Given the description of an element on the screen output the (x, y) to click on. 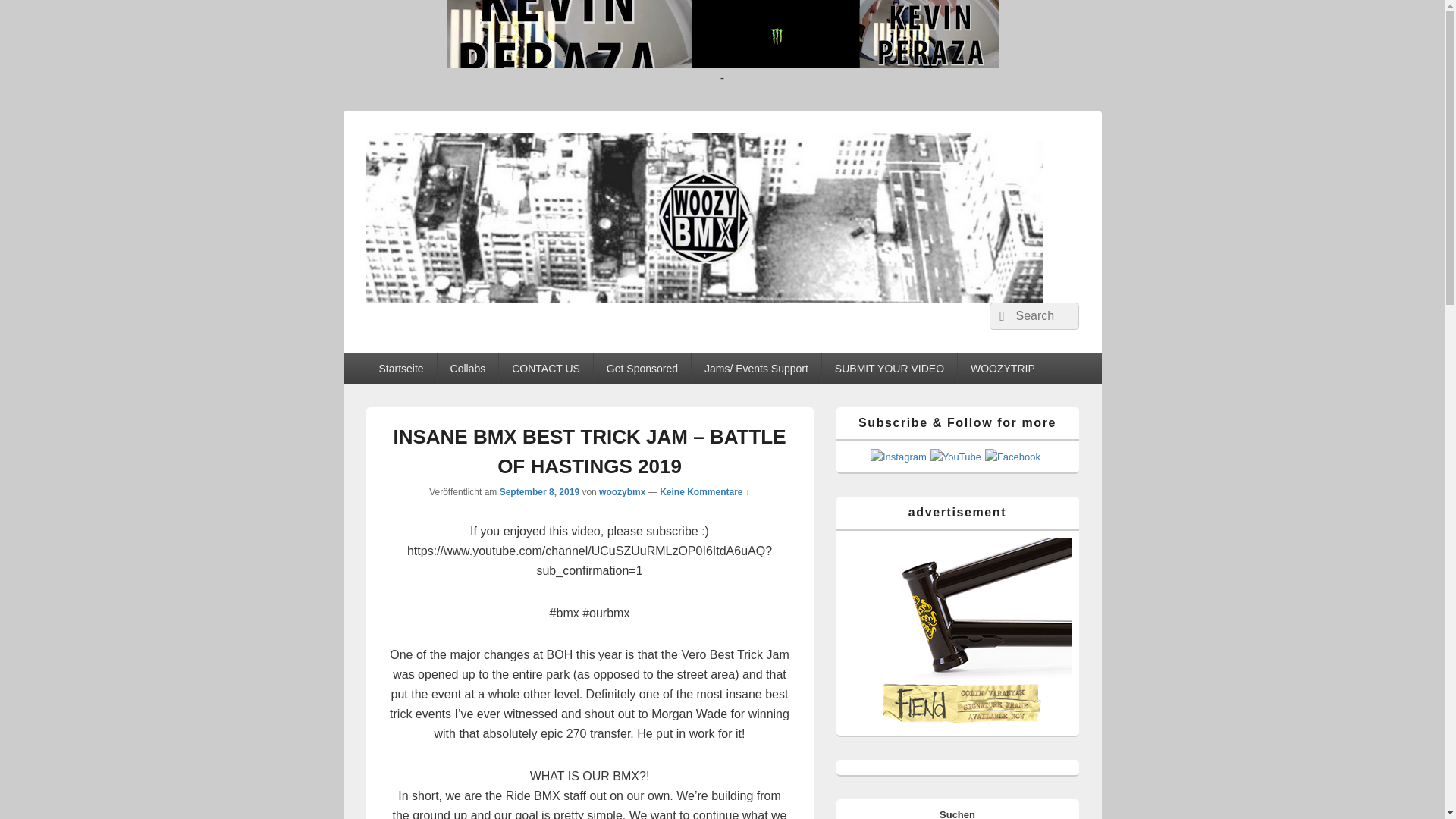
WOOZYTRIP (1003, 368)
sibmx.de (956, 633)
Connect on Facebook (1013, 456)
Startseite (400, 368)
woozybmx on Instagram (898, 456)
WOOZY BMX VIDEO MAGAZINE (573, 318)
YouTube Channel (955, 456)
www.youtube.com (721, 33)
SUBMIT YOUR VIDEO (889, 368)
Get Sponsored (642, 368)
